Given the description of an element on the screen output the (x, y) to click on. 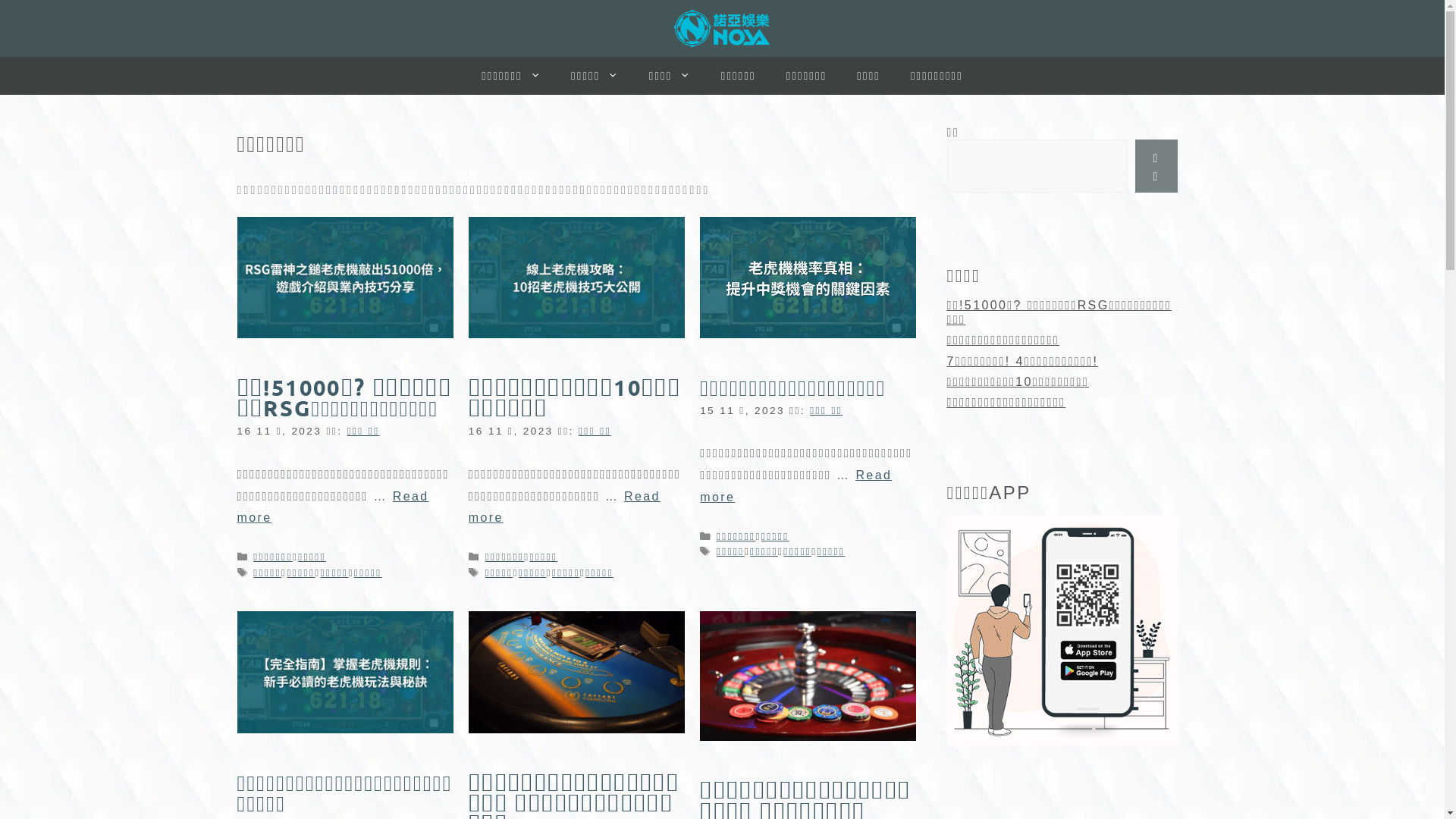
Read more Element type: text (332, 506)
Read more Element type: text (795, 485)
Read more Element type: text (564, 506)
